Given the description of an element on the screen output the (x, y) to click on. 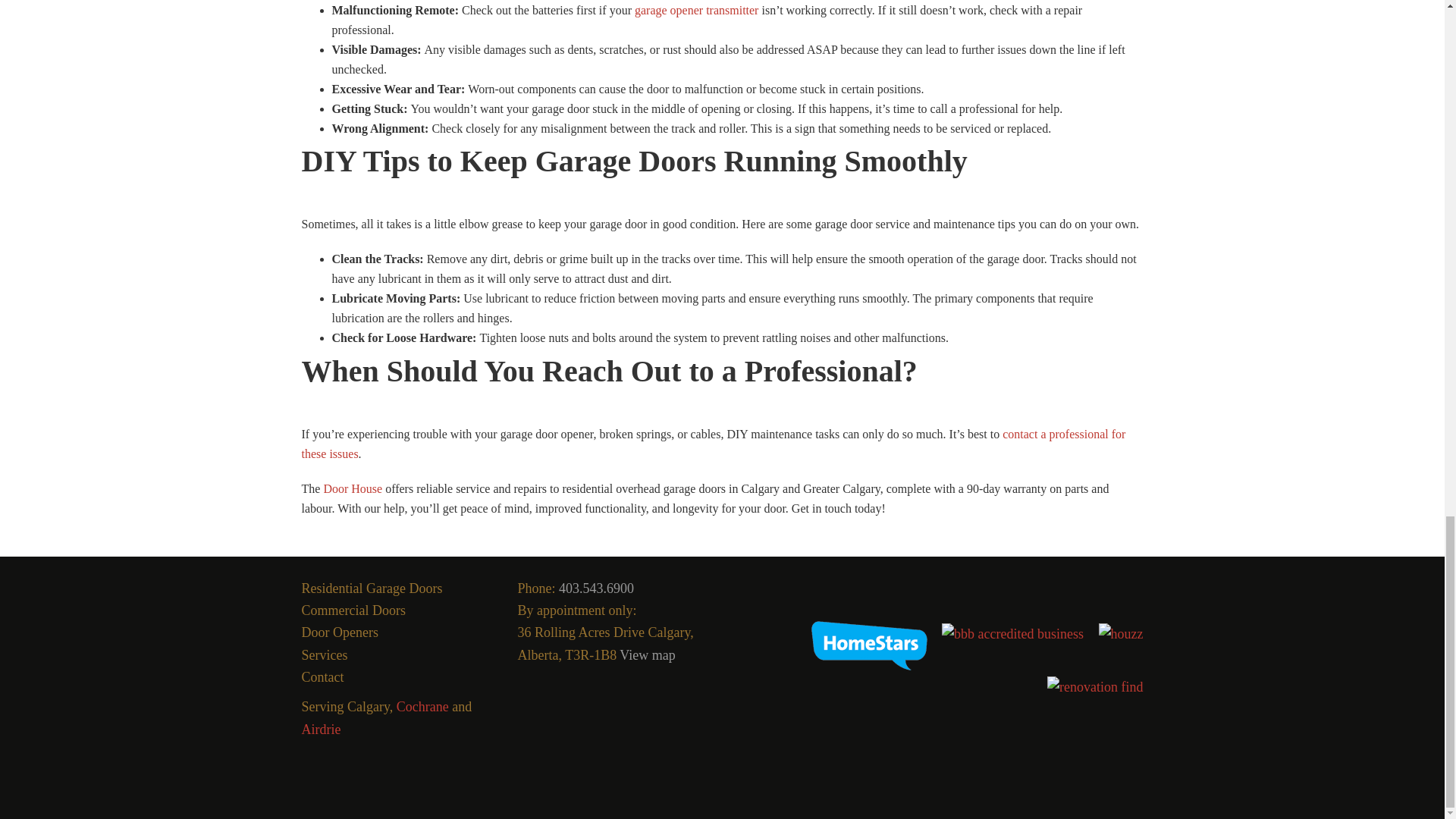
contact a professional for these issues (713, 443)
Residential Garage Doors (371, 588)
Door Openers (339, 631)
Commercial Doors (353, 610)
garage opener transmitter (696, 10)
Door House (352, 488)
